Given the description of an element on the screen output the (x, y) to click on. 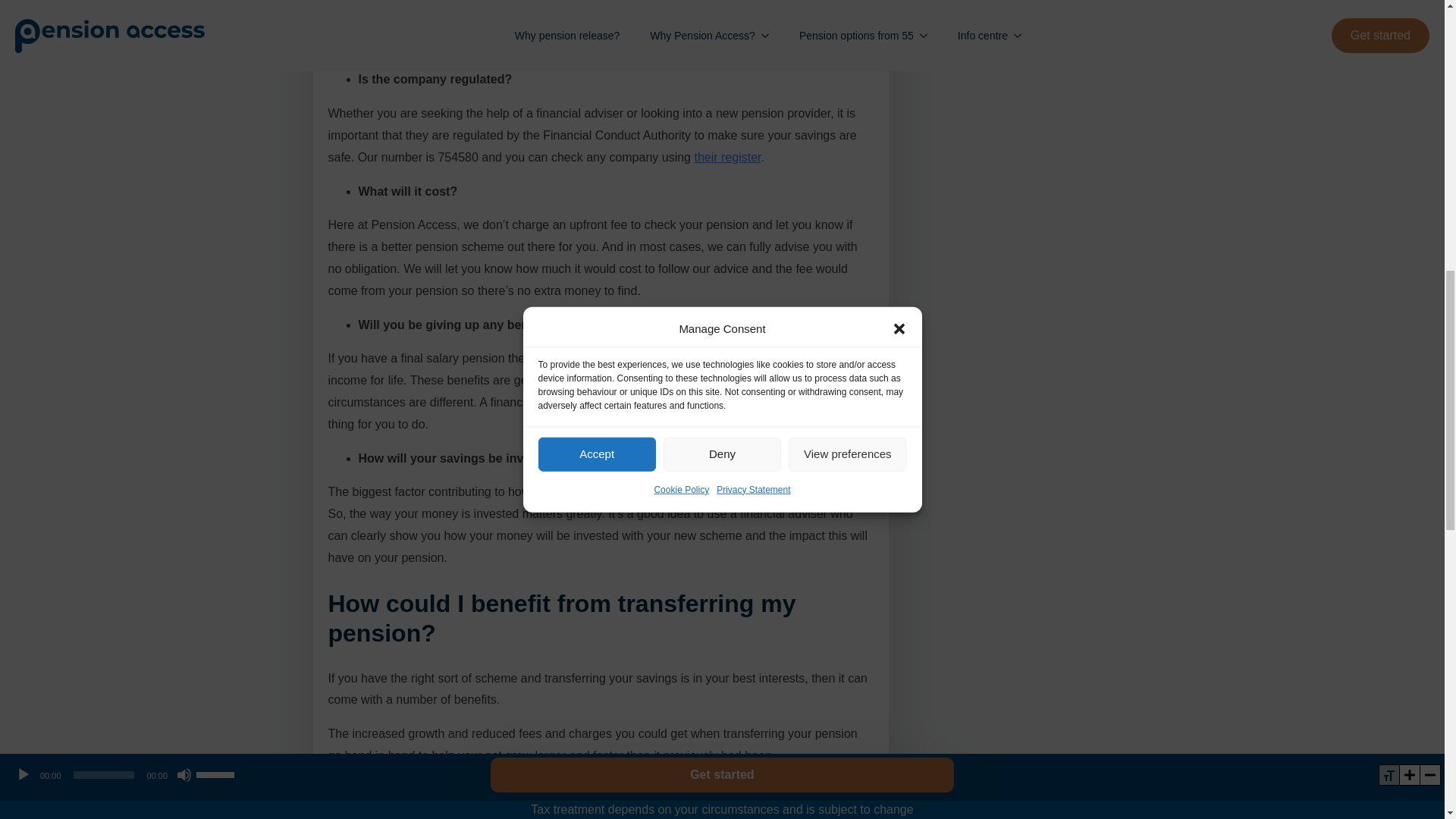
Pension withdrawal (461, 789)
Pensions and Tax (523, 789)
